Given the description of an element on the screen output the (x, y) to click on. 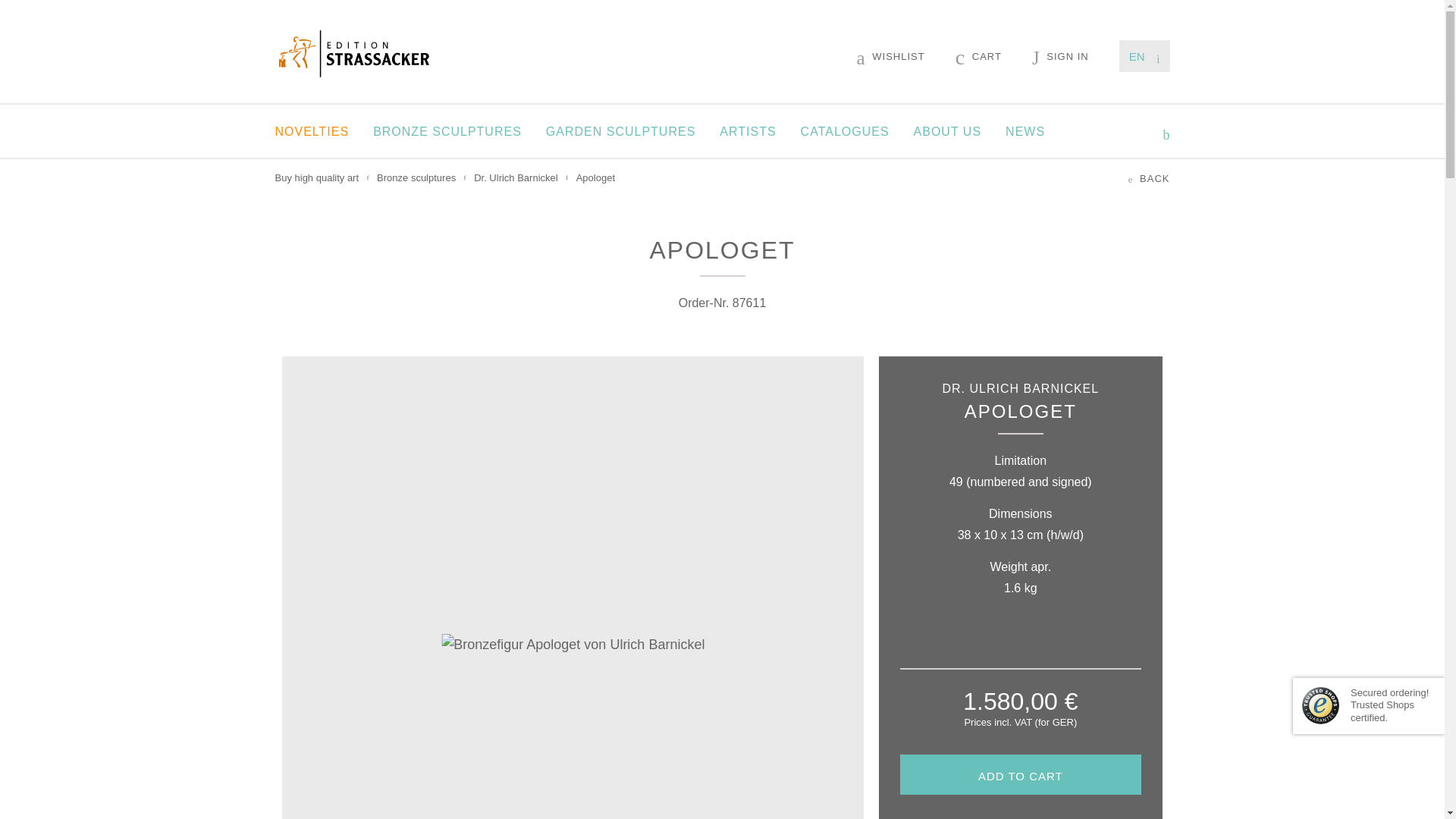
WISHLIST (890, 56)
GARDEN SCULPTURES (620, 131)
BRONZE SCULPTURES (446, 131)
NOVELTIES (312, 131)
CART (978, 56)
SIGN IN (1060, 56)
